Given the description of an element on the screen output the (x, y) to click on. 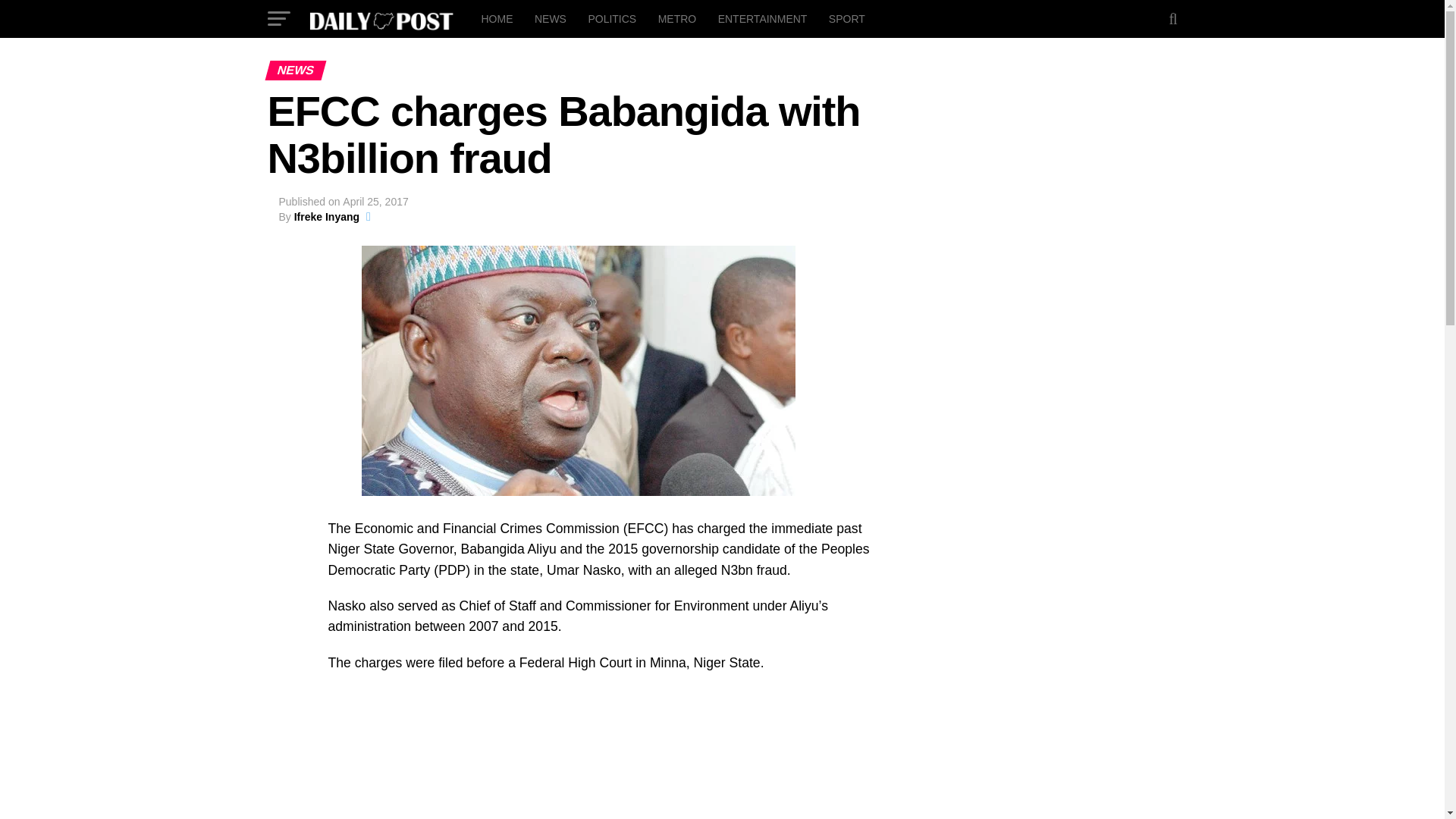
Ifreke Inyang (326, 216)
HOME (496, 18)
ENTERTAINMENT (762, 18)
METRO (677, 18)
Posts by Ifreke Inyang (326, 216)
SPORT (847, 18)
NEWS (550, 18)
POLITICS (611, 18)
